Given the description of an element on the screen output the (x, y) to click on. 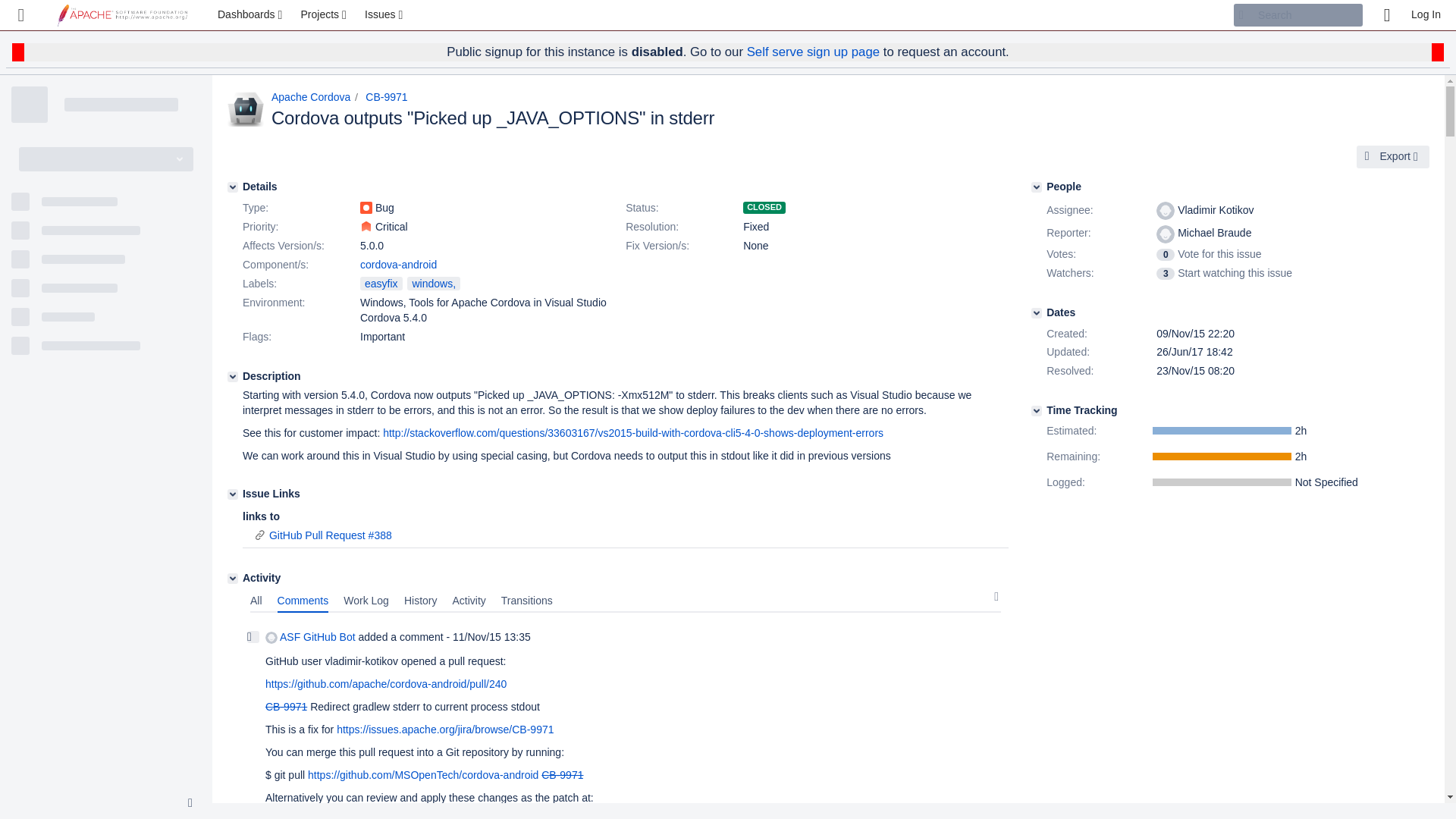
Type (299, 208)
View and manage your dashboards (251, 15)
View recent projects and browse a list of projects (324, 15)
Export (1392, 156)
Help (1386, 15)
cordova-android (397, 264)
CB-9971 (386, 96)
windows, (433, 283)
Issues (384, 15)
Log In (1425, 15)
